Given the description of an element on the screen output the (x, y) to click on. 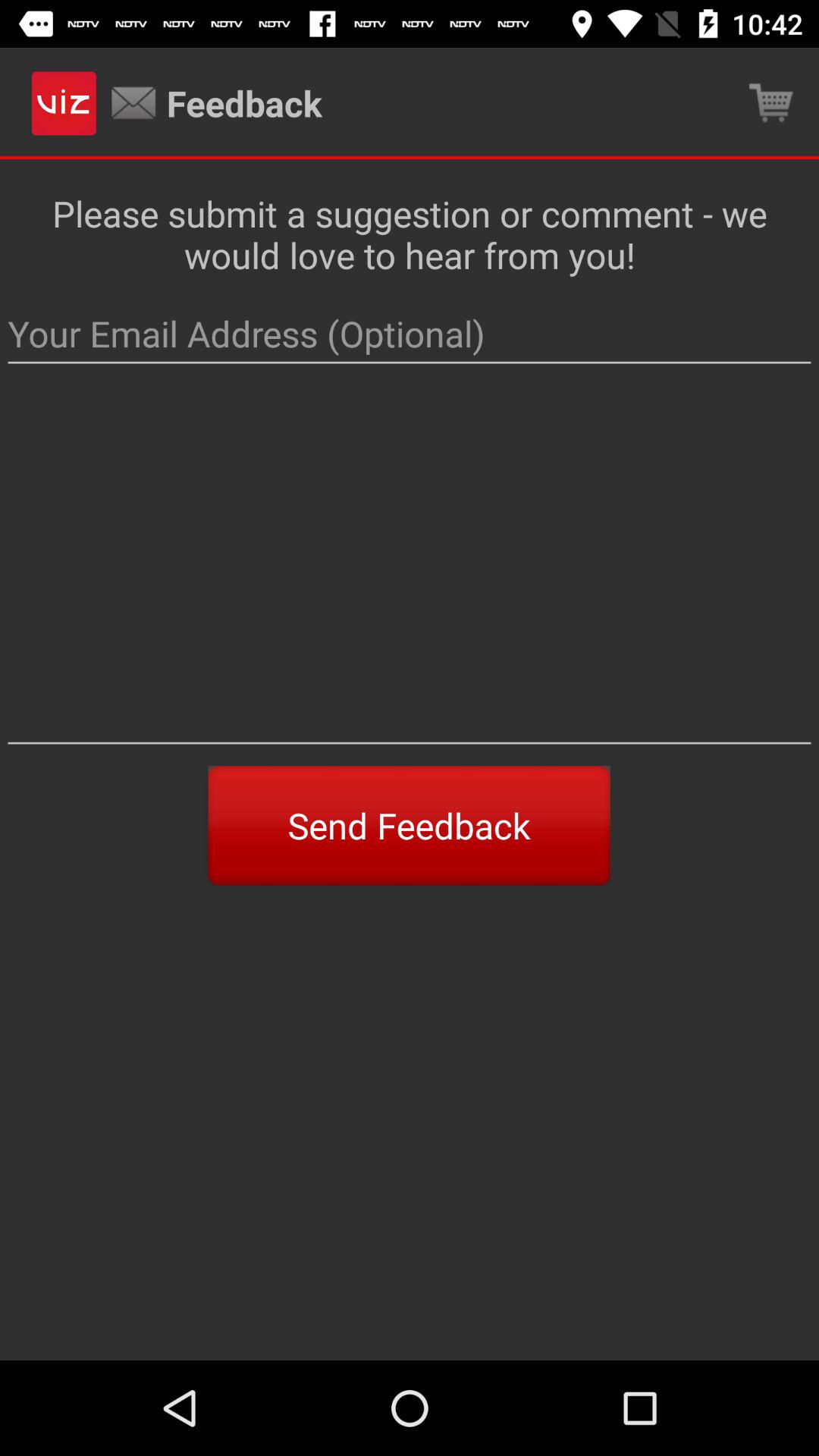
tap the icon next to  feedback item (771, 103)
